Given the description of an element on the screen output the (x, y) to click on. 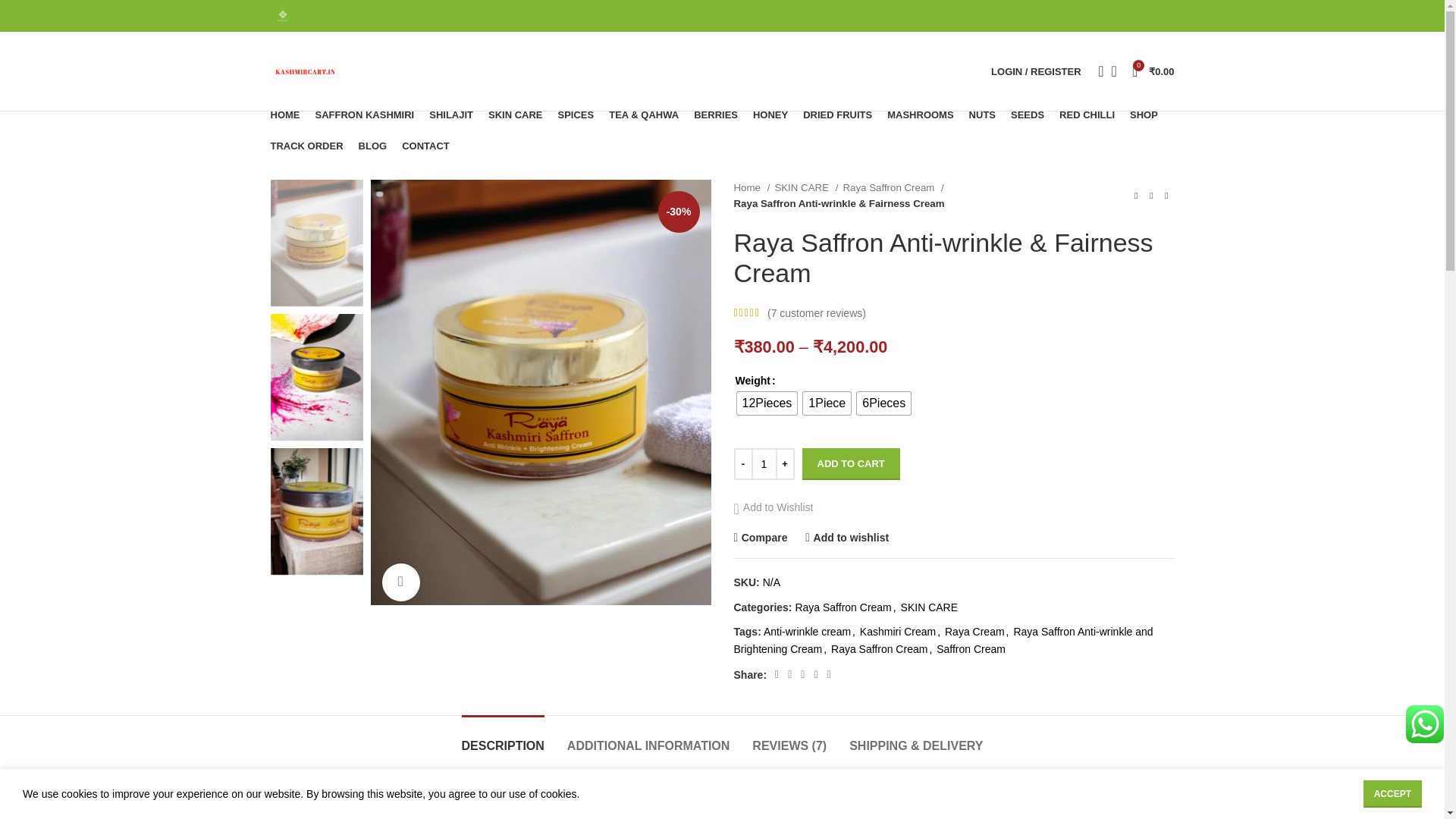
My account (1035, 71)
1 (763, 463)
SHOP (1143, 114)
My Wishlist (1113, 71)
CONTACT (425, 145)
BERRIES (716, 114)
Shopping cart (1153, 71)
SKIN CARE (515, 114)
HOME (284, 114)
Raya Saffron Cream (893, 187)
SEEDS (1026, 114)
SPICES (575, 114)
12Pieces (766, 403)
Home (751, 187)
1Piece (826, 403)
